Given the description of an element on the screen output the (x, y) to click on. 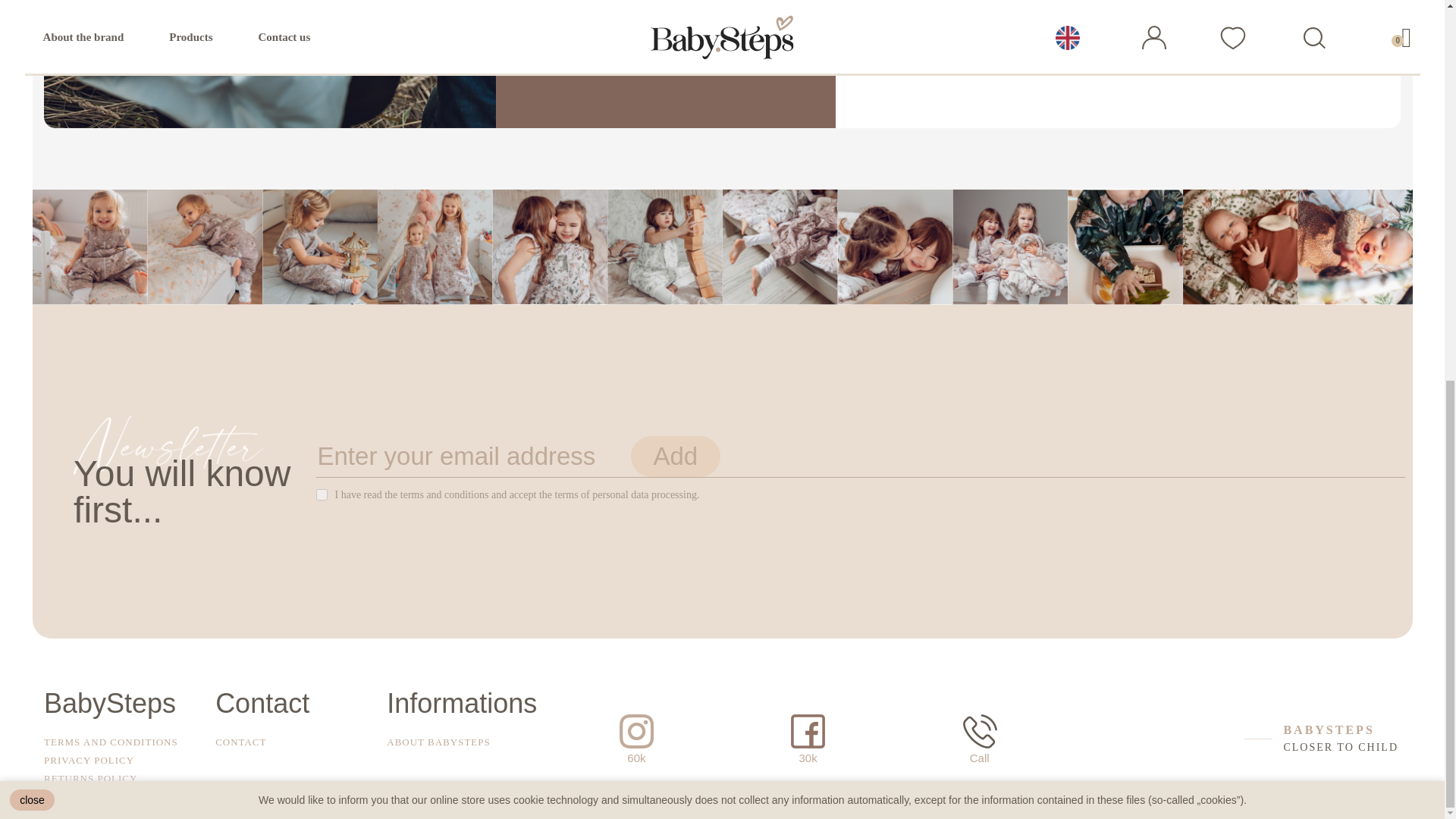
Add (675, 455)
Y (320, 494)
